Given the description of an element on the screen output the (x, y) to click on. 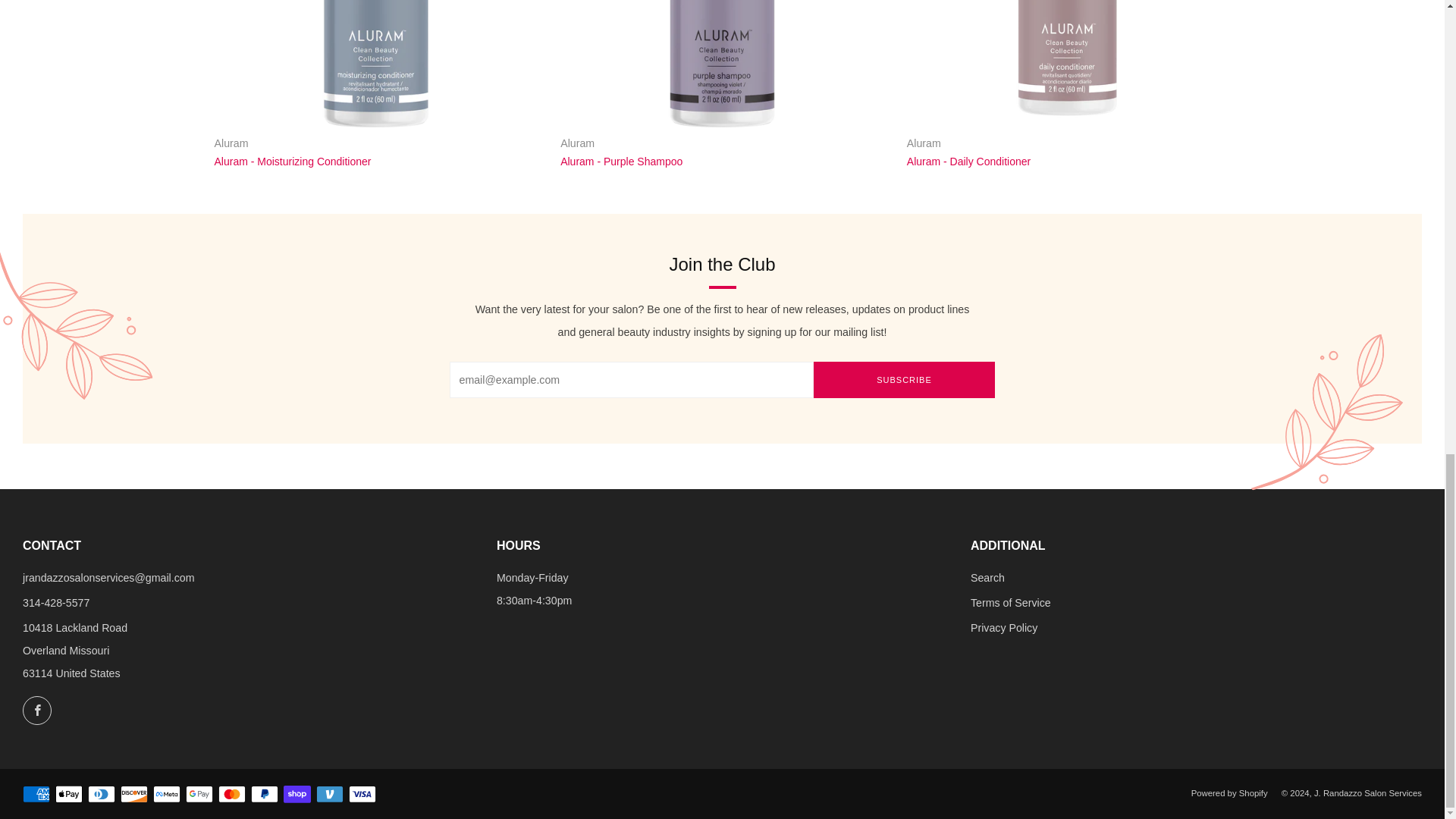
Aluram -  Purple Shampoo (721, 152)
Aluram -  Purple Shampoo (721, 63)
Aluram -  Moisturizing Conditioner (376, 63)
Aluram -  Moisturizing Conditioner (376, 152)
